Given the description of an element on the screen output the (x, y) to click on. 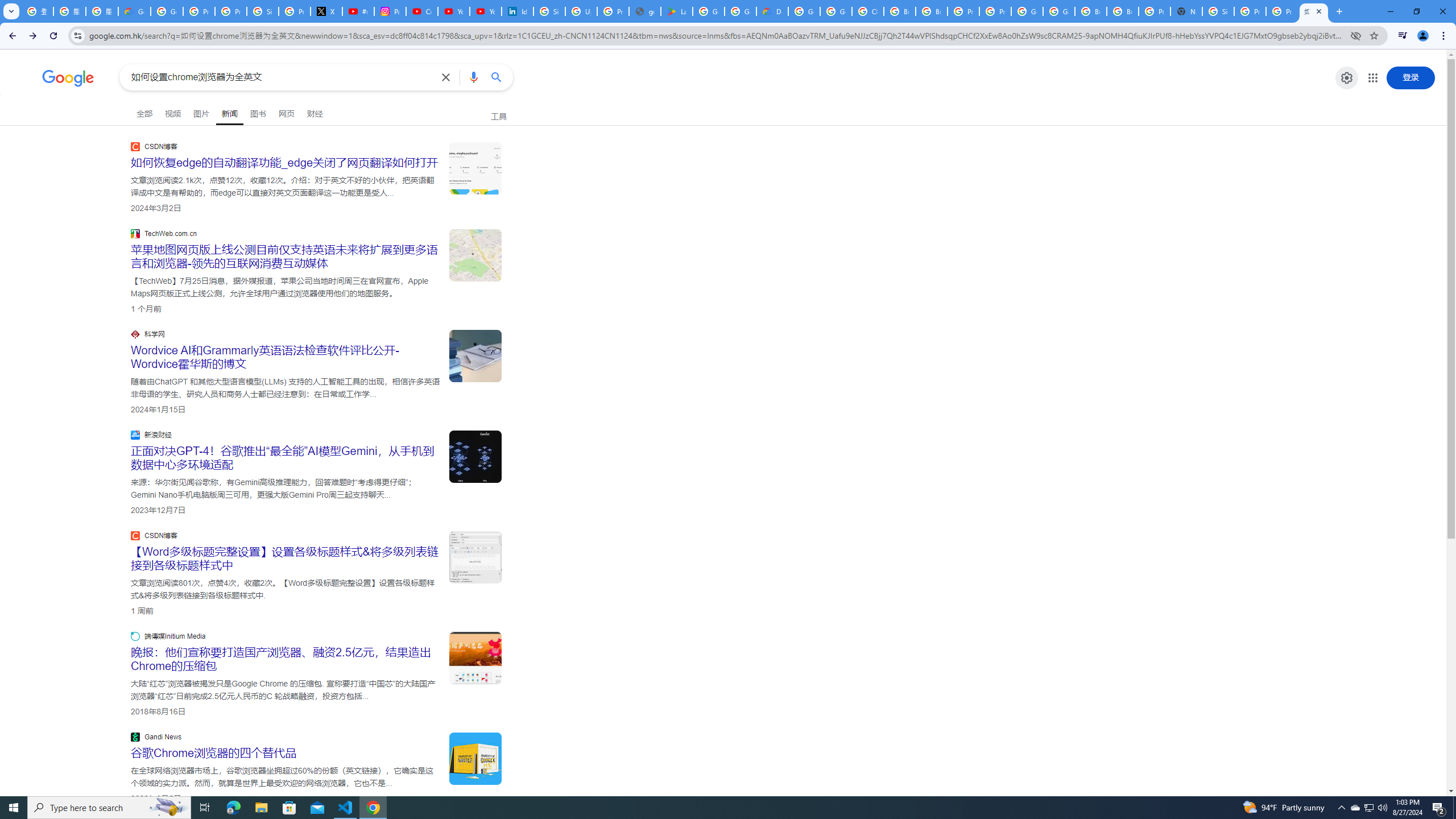
Sign in - Google Accounts (1217, 11)
